Given the description of an element on the screen output the (x, y) to click on. 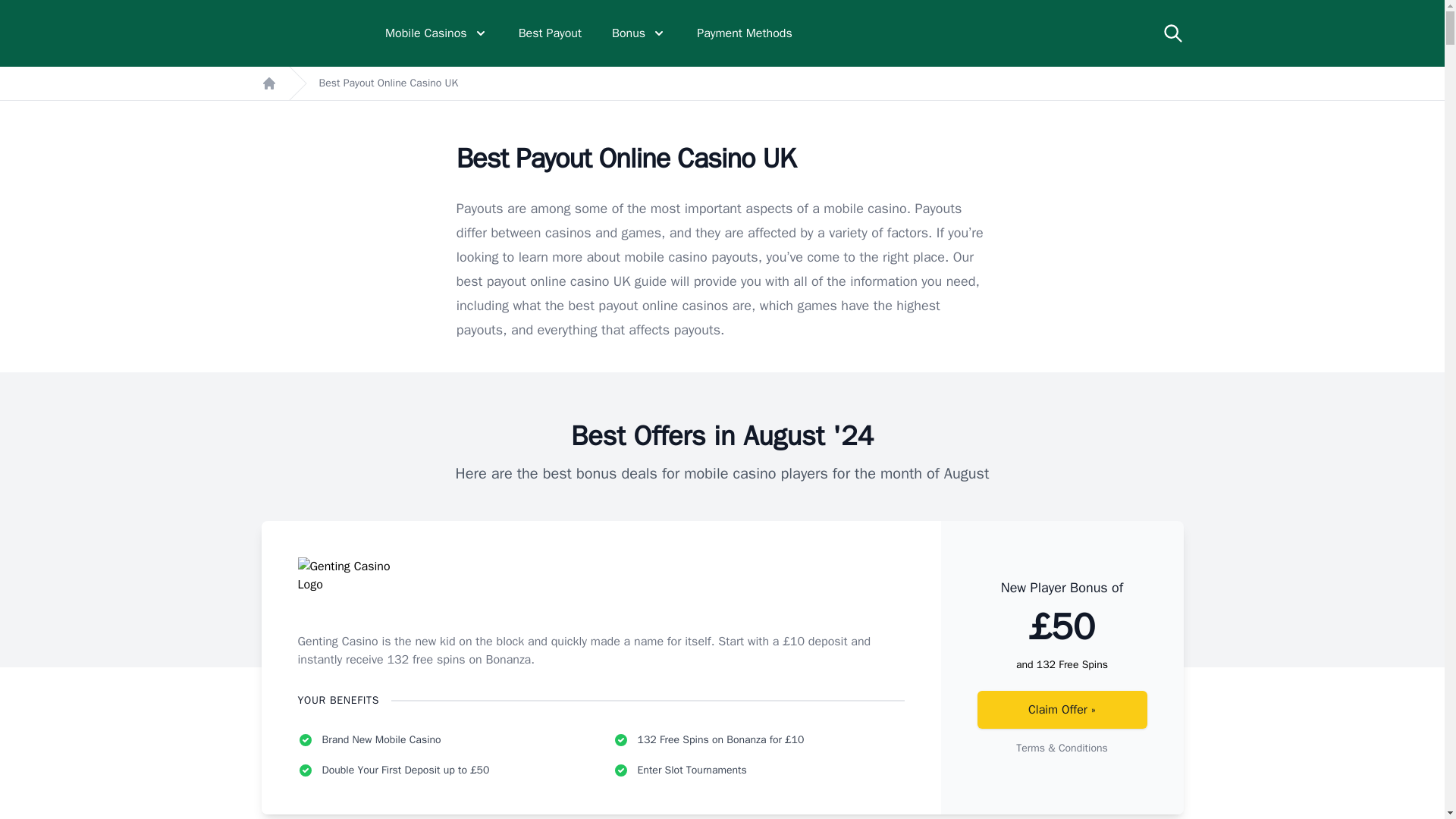
SmartphoneCasinos.co.uk Logo (307, 33)
SmartphoneCasinos.co.uk (307, 33)
Mobile Casinos (436, 33)
Best Payout (549, 33)
Home (268, 83)
Payment Methods (744, 33)
Bonus (638, 33)
